Given the description of an element on the screen output the (x, y) to click on. 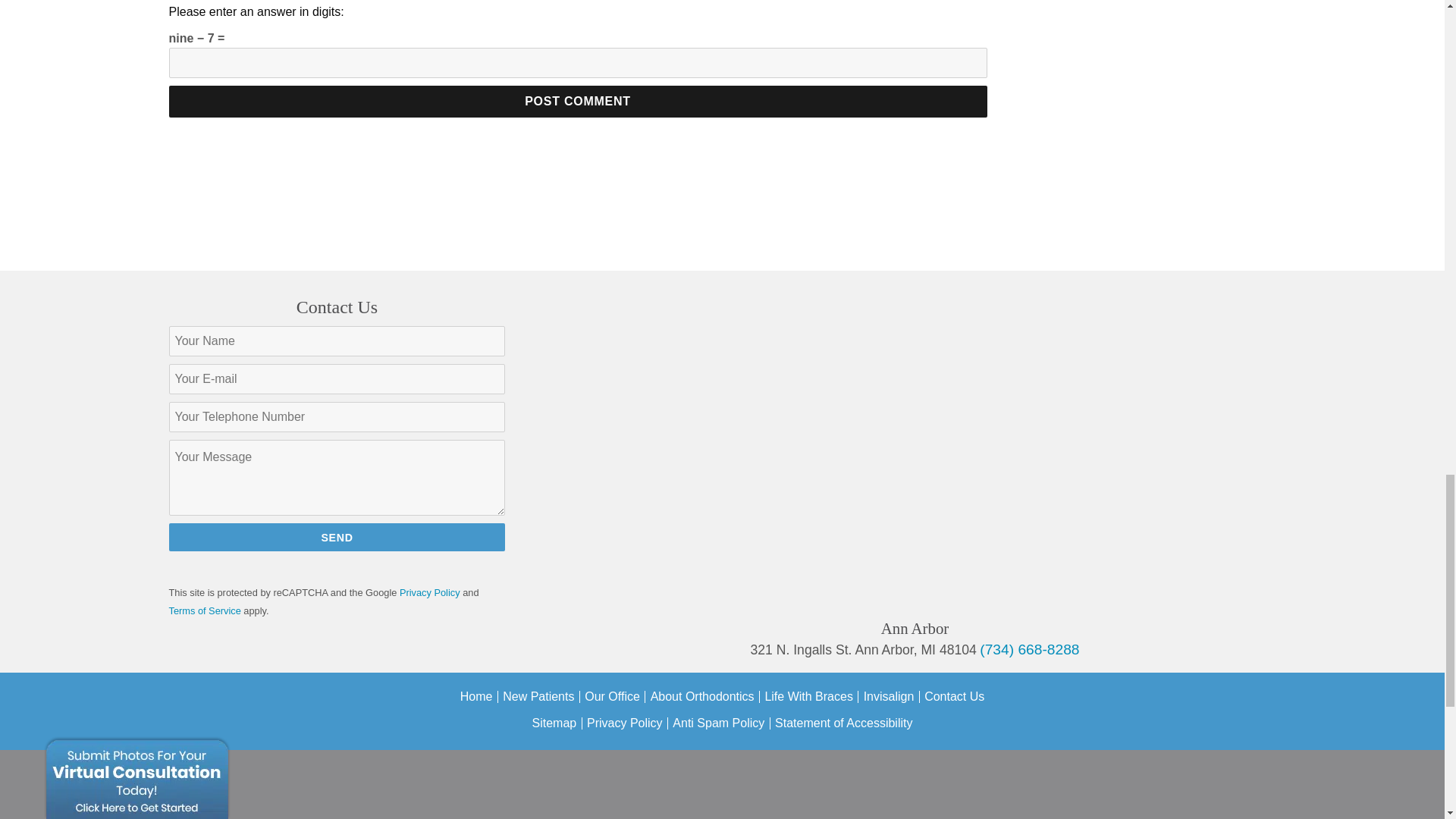
Send (336, 537)
Post Comment (577, 101)
